Given the description of an element on the screen output the (x, y) to click on. 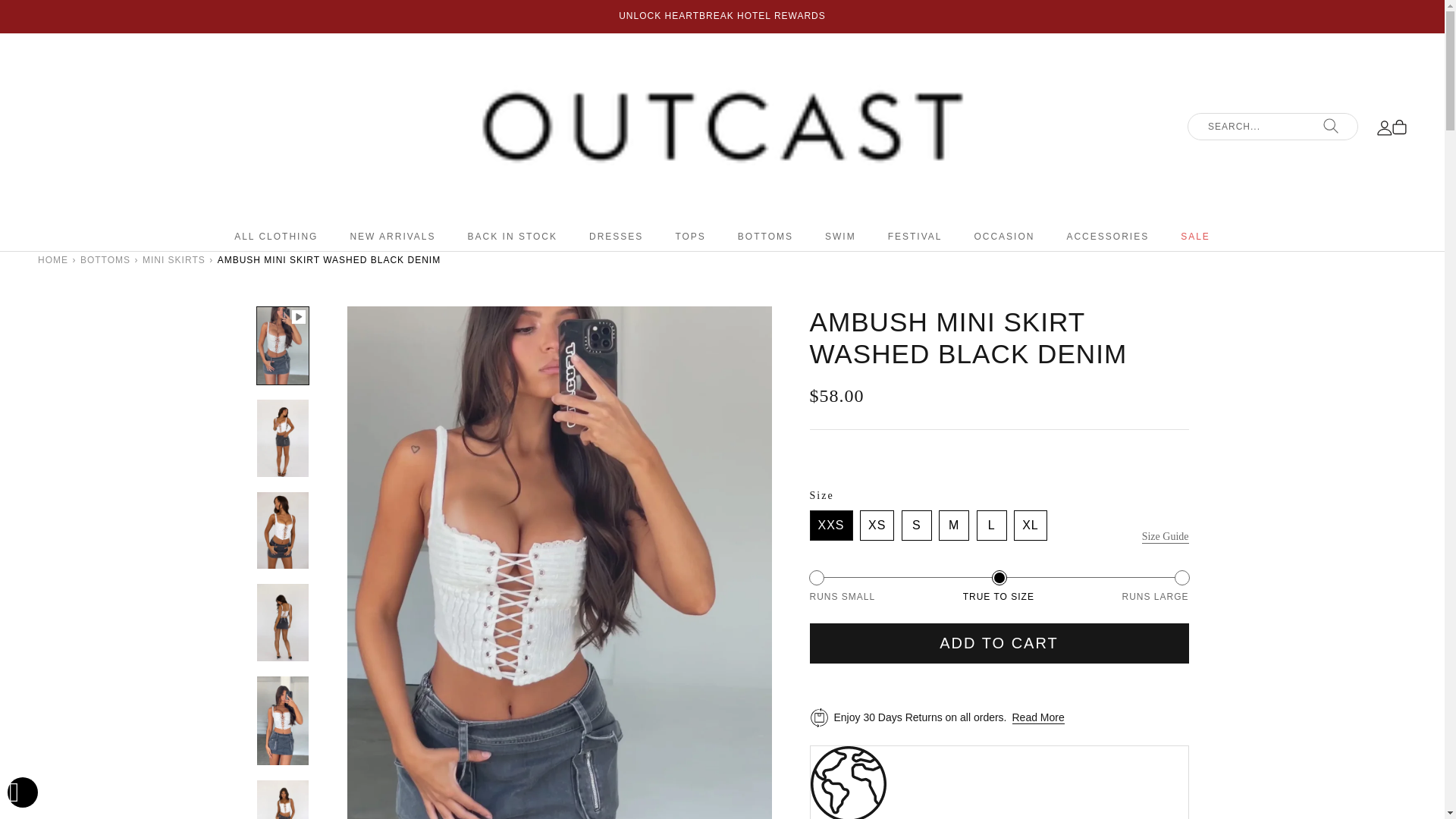
BOTTOMS (105, 259)
Mini Skirts (173, 259)
Home (52, 259)
